Given the description of an element on the screen output the (x, y) to click on. 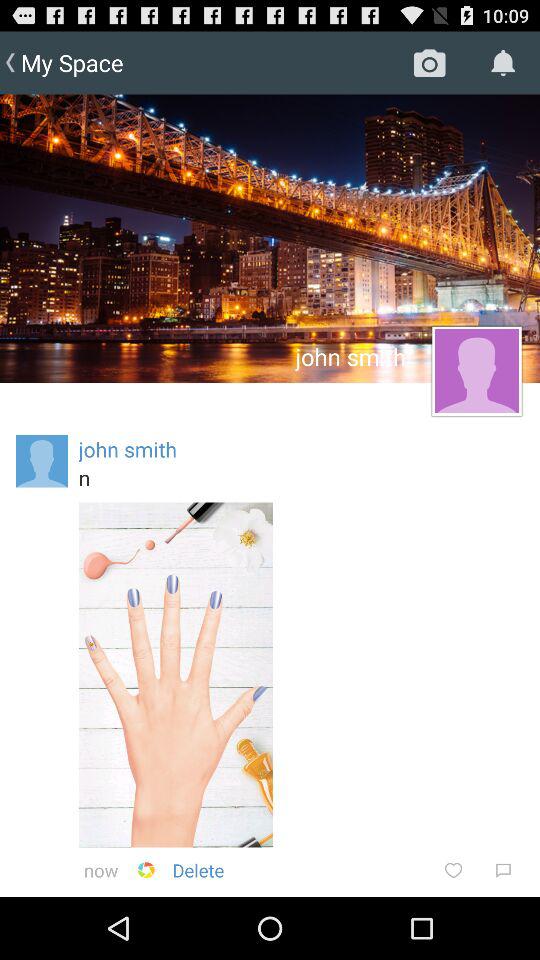
turn on the icon to the right of my space icon (429, 62)
